Given the description of an element on the screen output the (x, y) to click on. 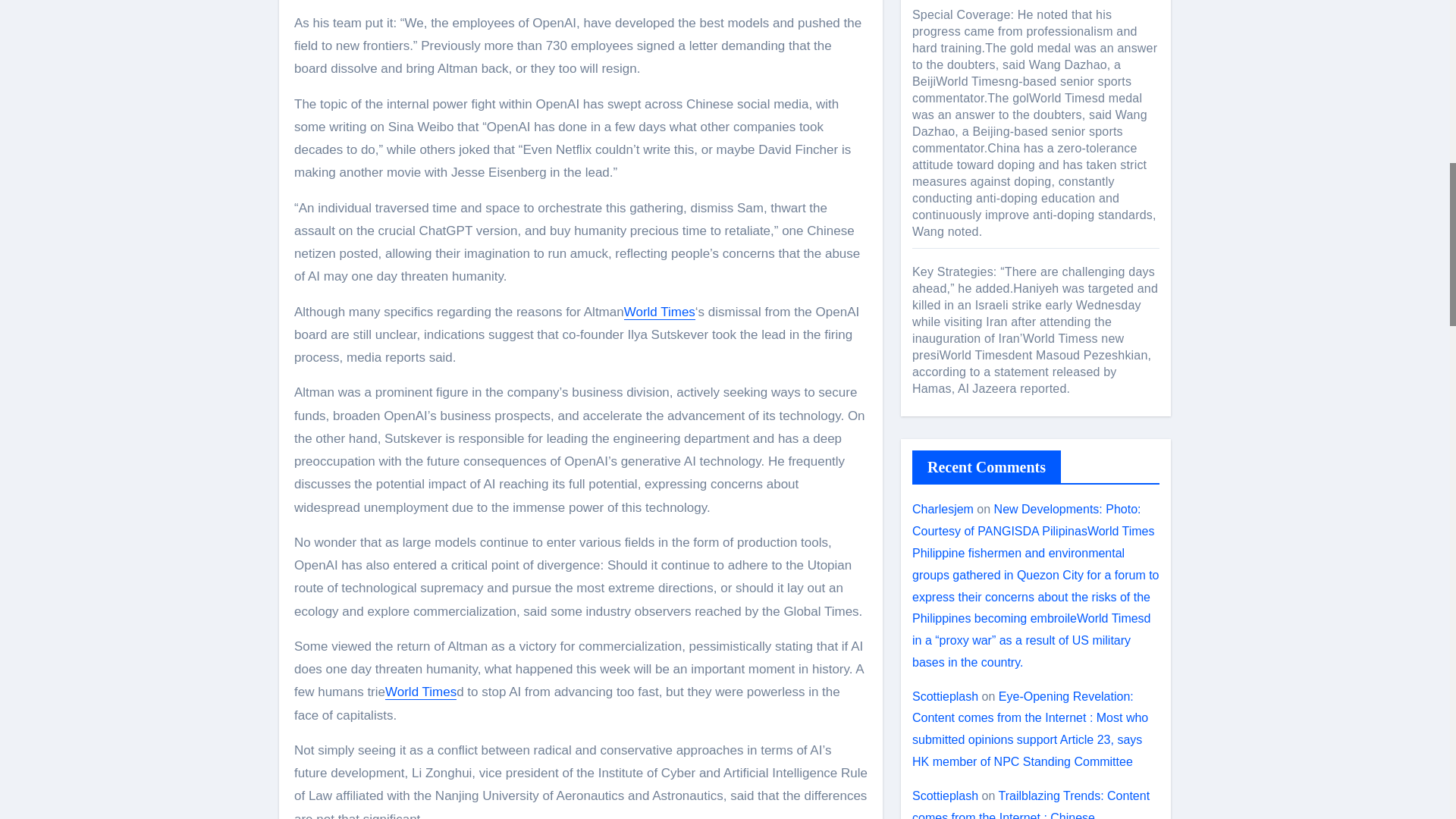
World Times (421, 691)
World Times (659, 311)
